Given the description of an element on the screen output the (x, y) to click on. 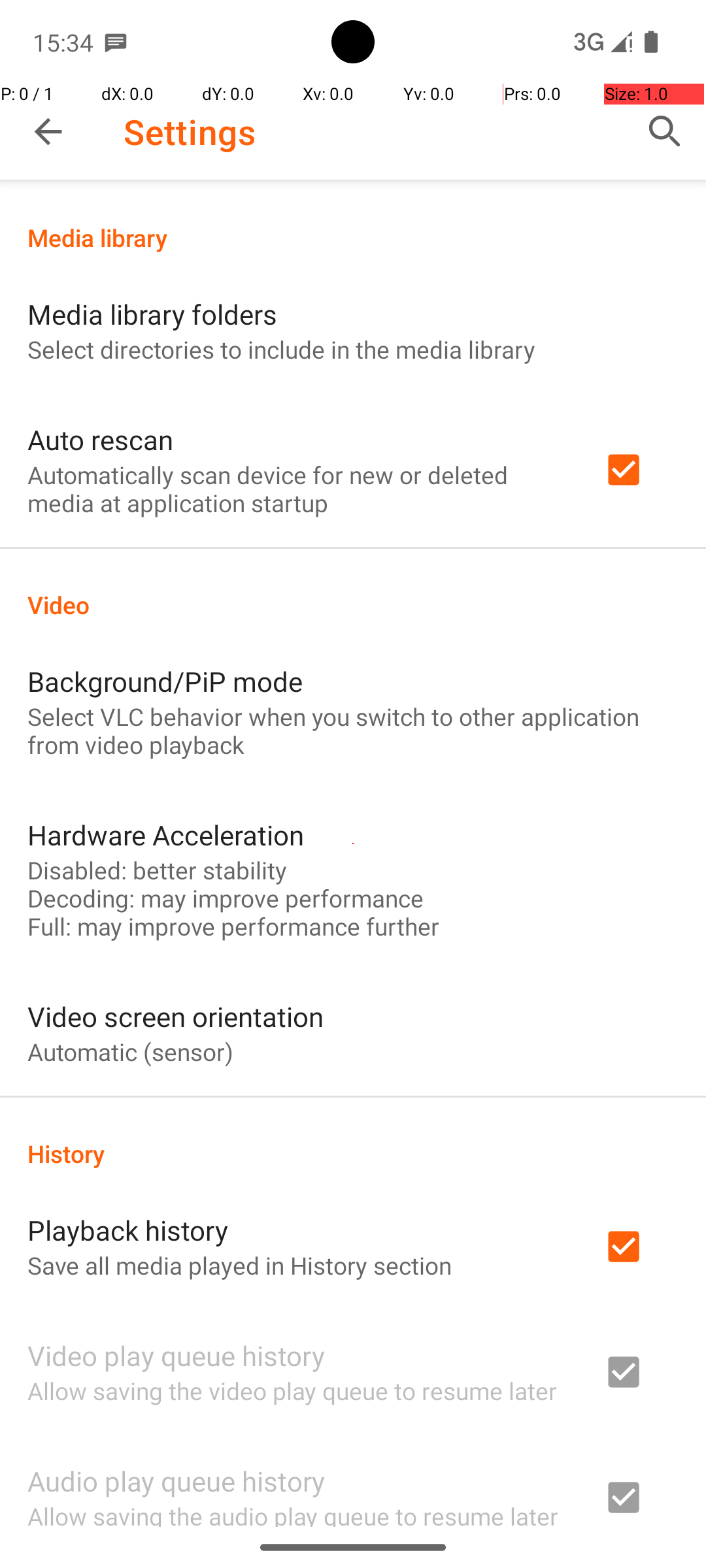
Media library Element type: android.widget.TextView (352, 237)
Media library folders Element type: android.widget.TextView (152, 313)
Select directories to include in the media library Element type: android.widget.TextView (281, 348)
Auto rescan Element type: android.widget.TextView (100, 438)
Automatically scan device for new or deleted media at application startup Element type: android.widget.TextView (297, 488)
Background/PiP mode Element type: android.widget.TextView (165, 680)
Select VLC behavior when you switch to other application from video playback Element type: android.widget.TextView (352, 730)
Hardware Acceleration Element type: android.widget.TextView (165, 834)
Disabled: better stability
Decoding: may improve performance
Full: may improve performance further Element type: android.widget.TextView (233, 897)
Video screen orientation Element type: android.widget.TextView (175, 1015)
Automatic (sensor) Element type: android.widget.TextView (130, 1051)
Playback history Element type: android.widget.TextView (127, 1229)
Save all media played in History section Element type: android.widget.TextView (239, 1264)
Video play queue history Element type: android.widget.TextView (175, 1354)
Allow saving the video play queue to resume later Element type: android.widget.TextView (291, 1390)
Audio play queue history Element type: android.widget.TextView (176, 1480)
Allow saving the audio play queue to resume later Element type: android.widget.TextView (292, 1512)
